Given the description of an element on the screen output the (x, y) to click on. 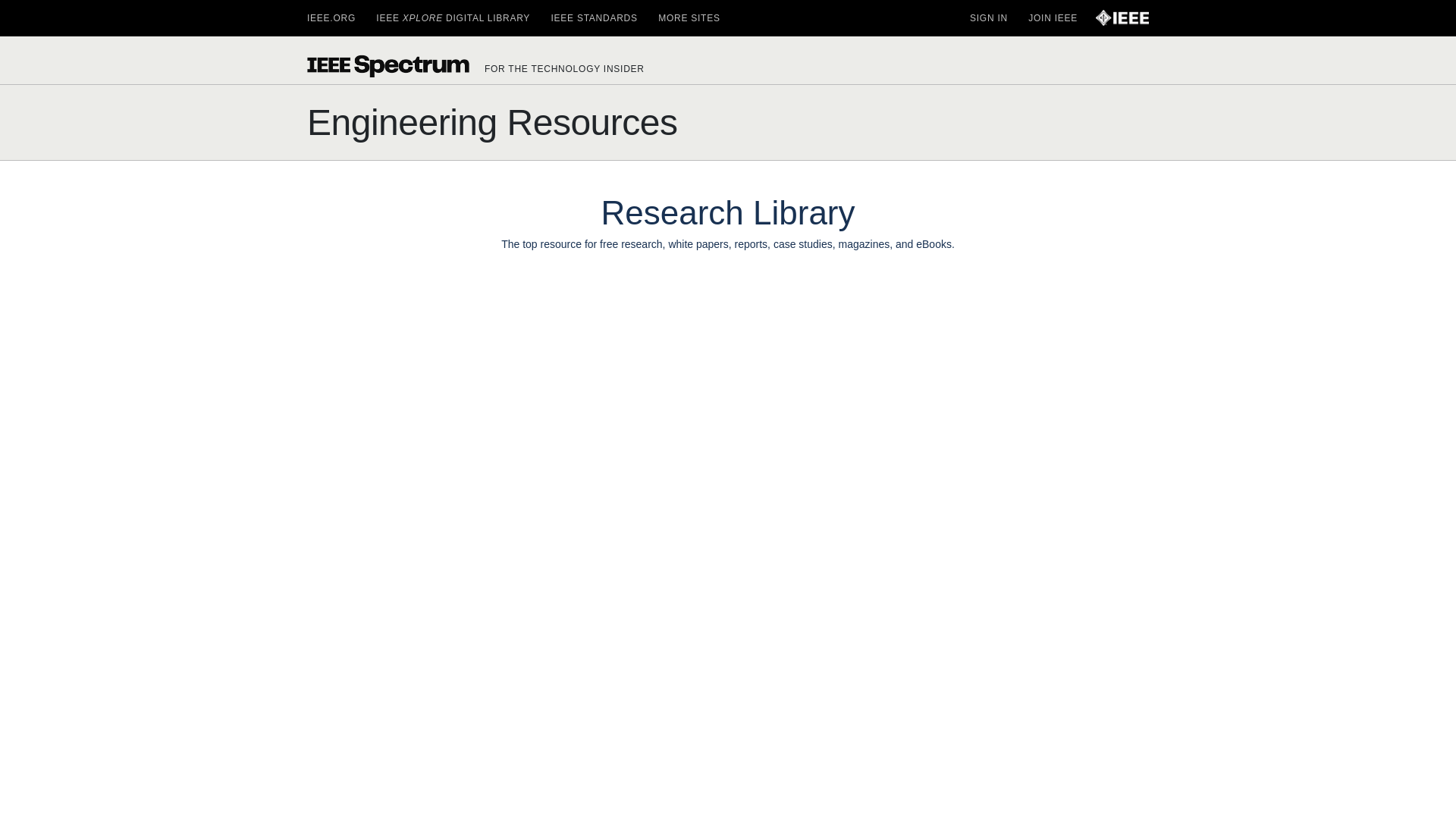
SIGN IN (988, 18)
IEEE XPLORE DIGITAL LIBRARY (452, 18)
JOIN IEEE (1052, 18)
IEEE STANDARDS (593, 18)
MORE SITES (689, 18)
IEEE.ORG (331, 18)
